Given the description of an element on the screen output the (x, y) to click on. 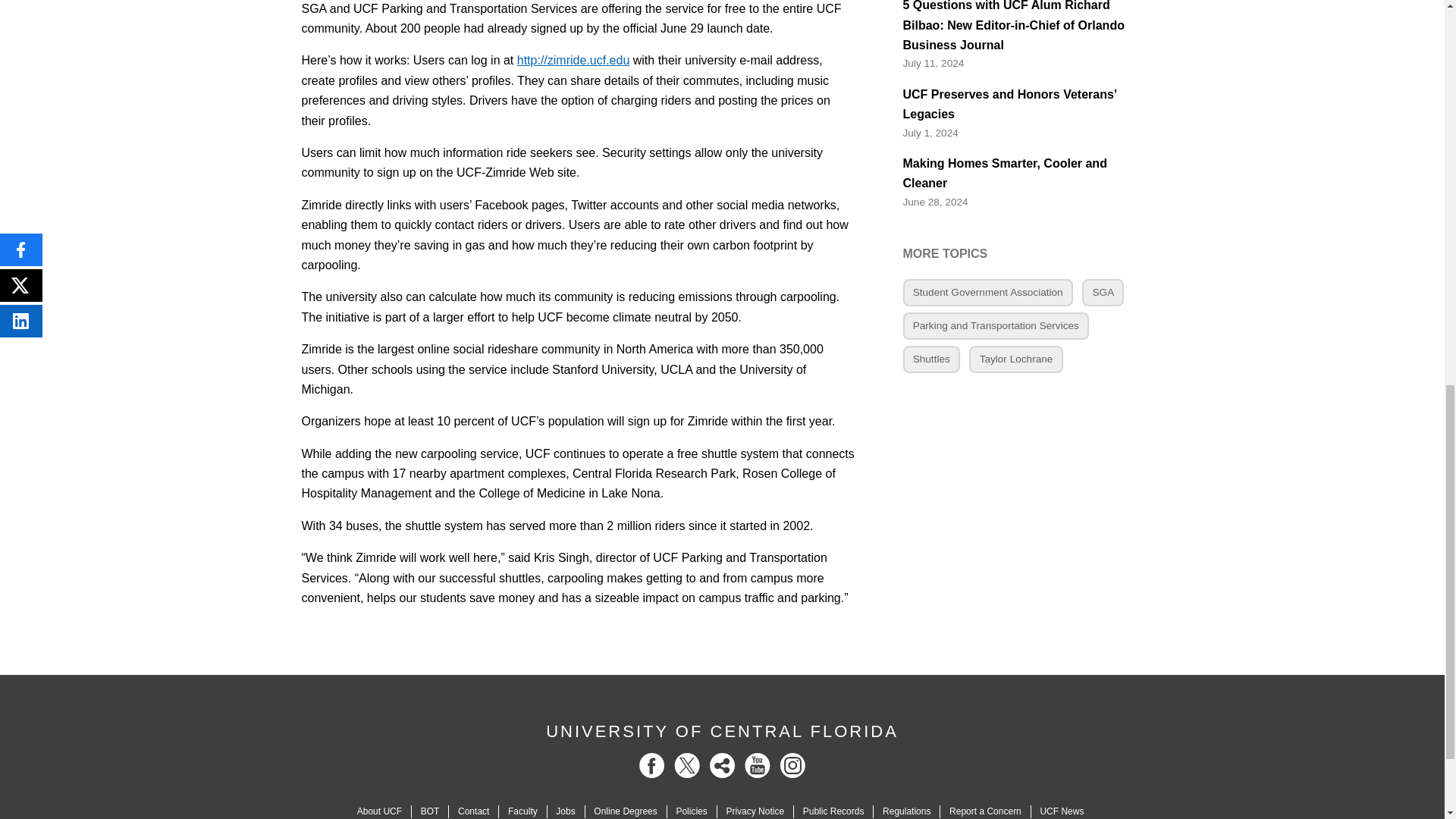
Making Homes Smarter, Cooler and Cleaner (1022, 173)
Student Government Association (986, 292)
SGA (1102, 292)
UCF Board of Trustees (429, 810)
Shuttles (930, 359)
Parking and Transportation Services (995, 325)
